Given the description of an element on the screen output the (x, y) to click on. 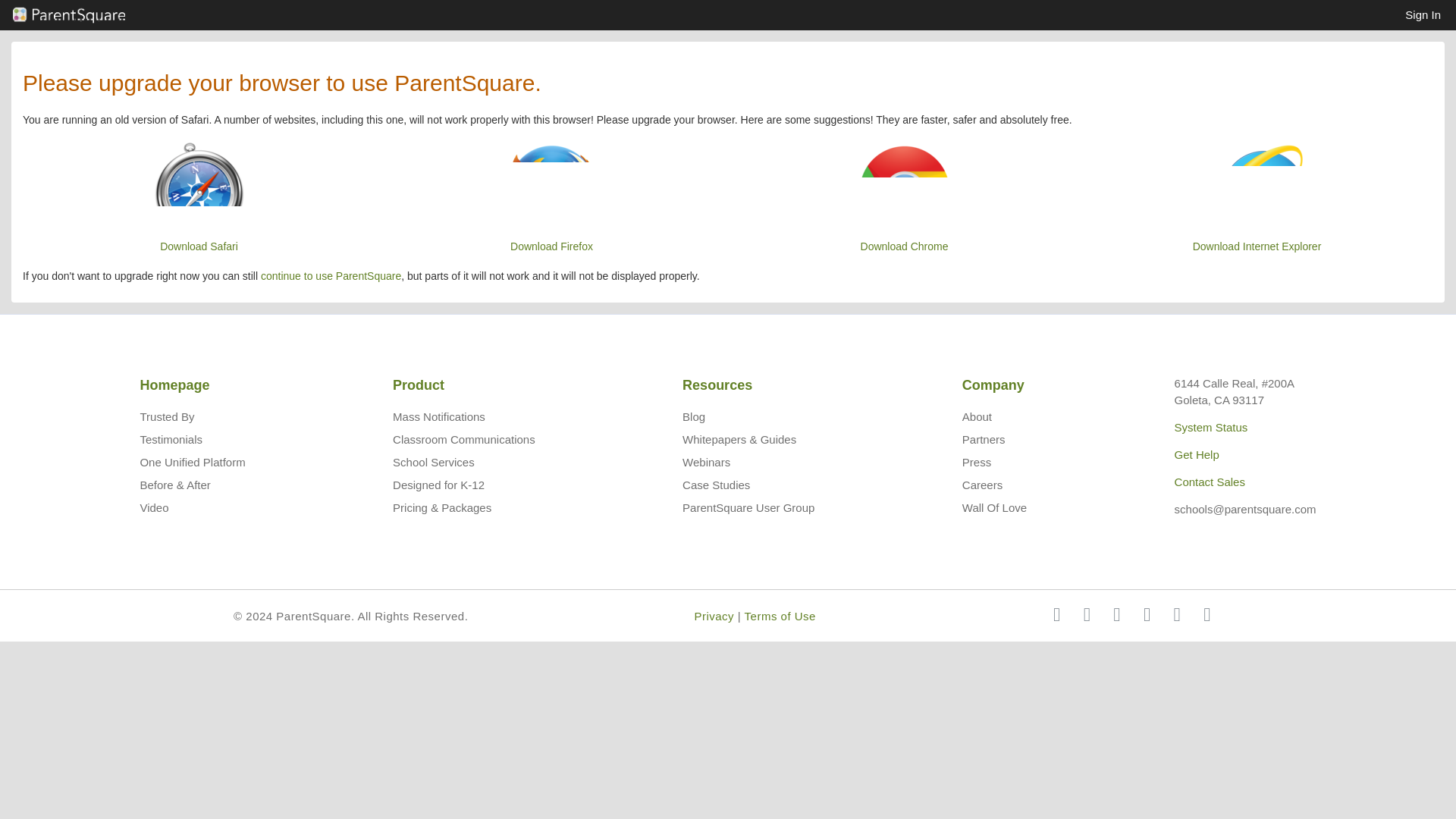
Download Chrome (903, 197)
Sign In (1422, 14)
Partners (984, 439)
ParentSquare User Group (747, 507)
Download Safari (198, 197)
Terms of Use (779, 615)
School Services (433, 461)
Webinars (706, 461)
Designed for K-12 (438, 484)
Download Internet Explorer (1257, 197)
Resources (717, 384)
continue to use ParentSquare (330, 275)
Video (153, 507)
Case Studies (715, 484)
Blog (693, 416)
